Given the description of an element on the screen output the (x, y) to click on. 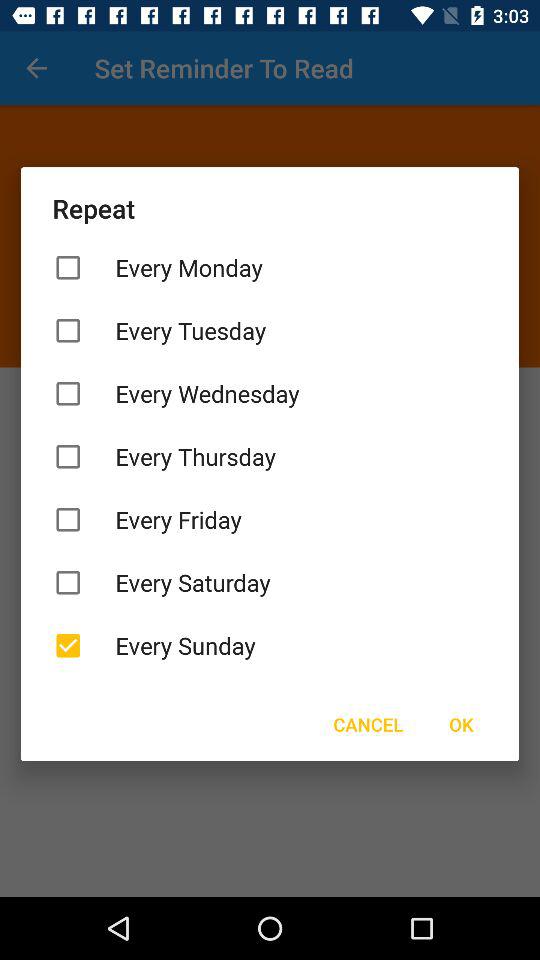
open cancel item (368, 724)
